Given the description of an element on the screen output the (x, y) to click on. 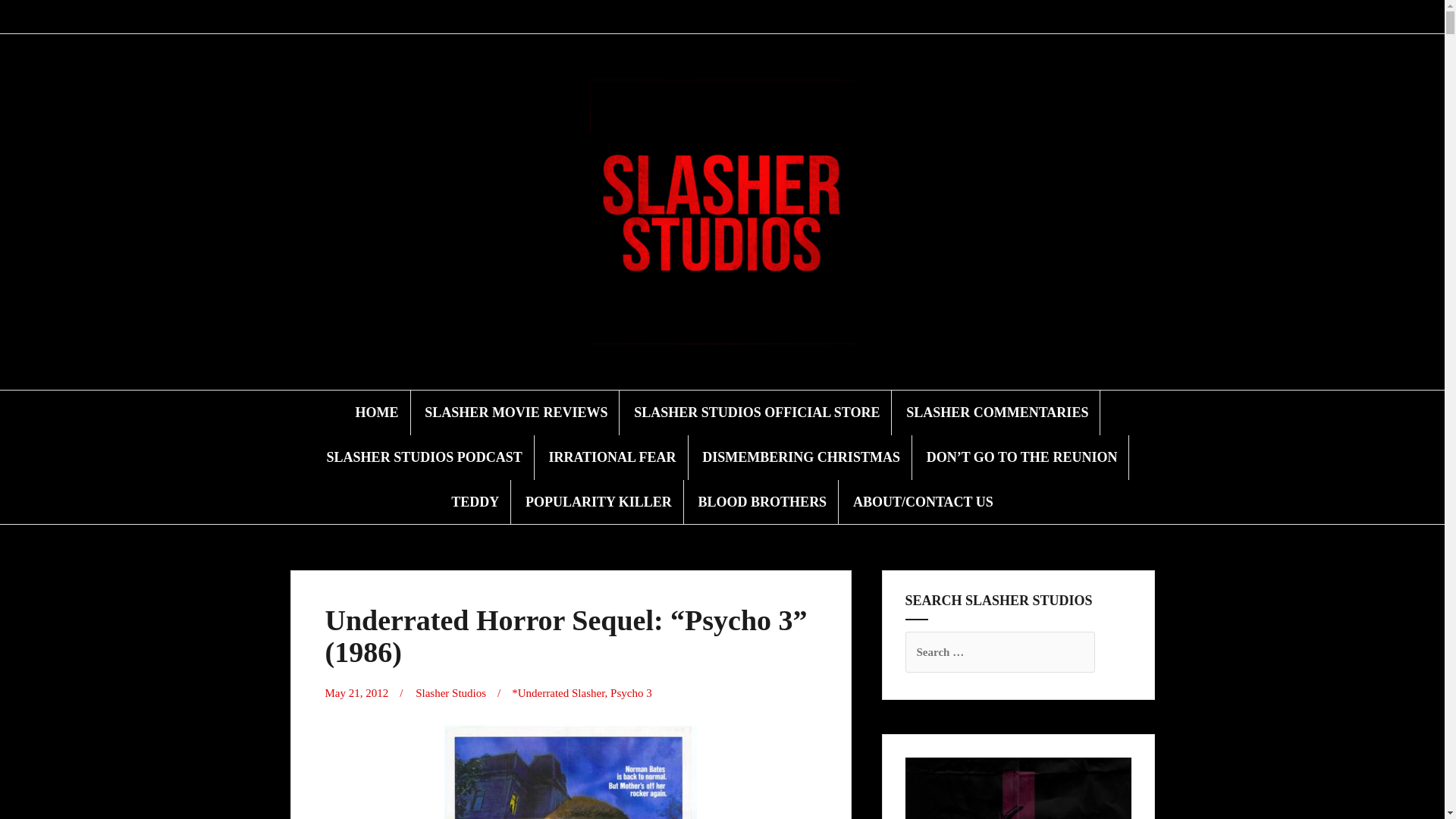
BLOOD BROTHERS (762, 502)
Slasher Studios Podcast (695, 16)
Psycho 3 (631, 693)
Irrational Fear (713, 16)
Slasher Commentaries (676, 16)
Slasher Studios (450, 693)
47747.1020.A (570, 771)
IRRATIONAL FEAR (611, 457)
Home (622, 16)
SLASHER STUDIOS PODCAST (424, 457)
POPULARITY KILLER (598, 502)
Blood Brothers (802, 16)
SLASHER MOVIE REVIEWS (516, 413)
SLASHER STUDIOS OFFICIAL STORE (756, 413)
Teddy (767, 16)
